Given the description of an element on the screen output the (x, y) to click on. 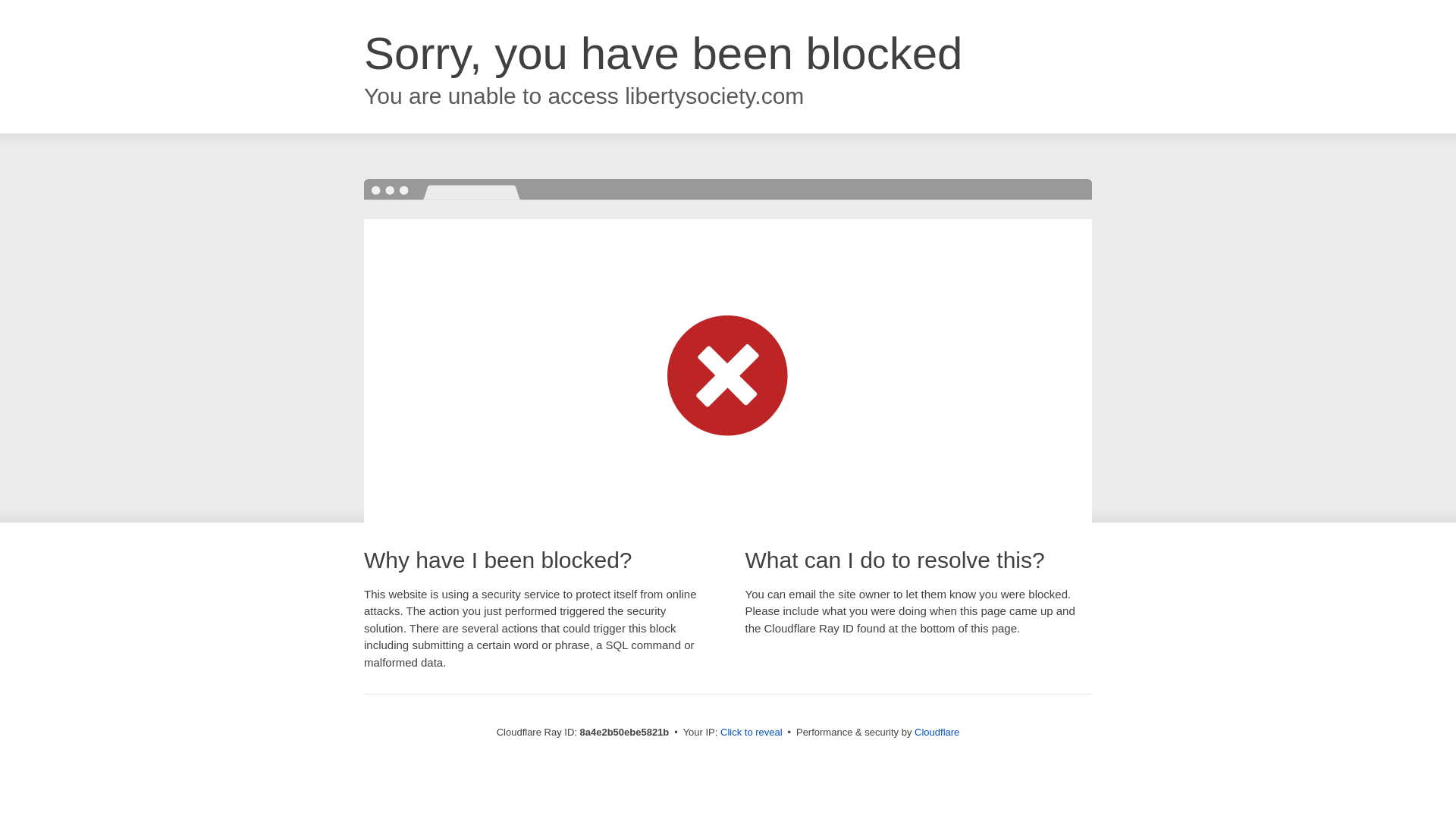
Cloudflare (936, 731)
Click to reveal (751, 732)
